Given the description of an element on the screen output the (x, y) to click on. 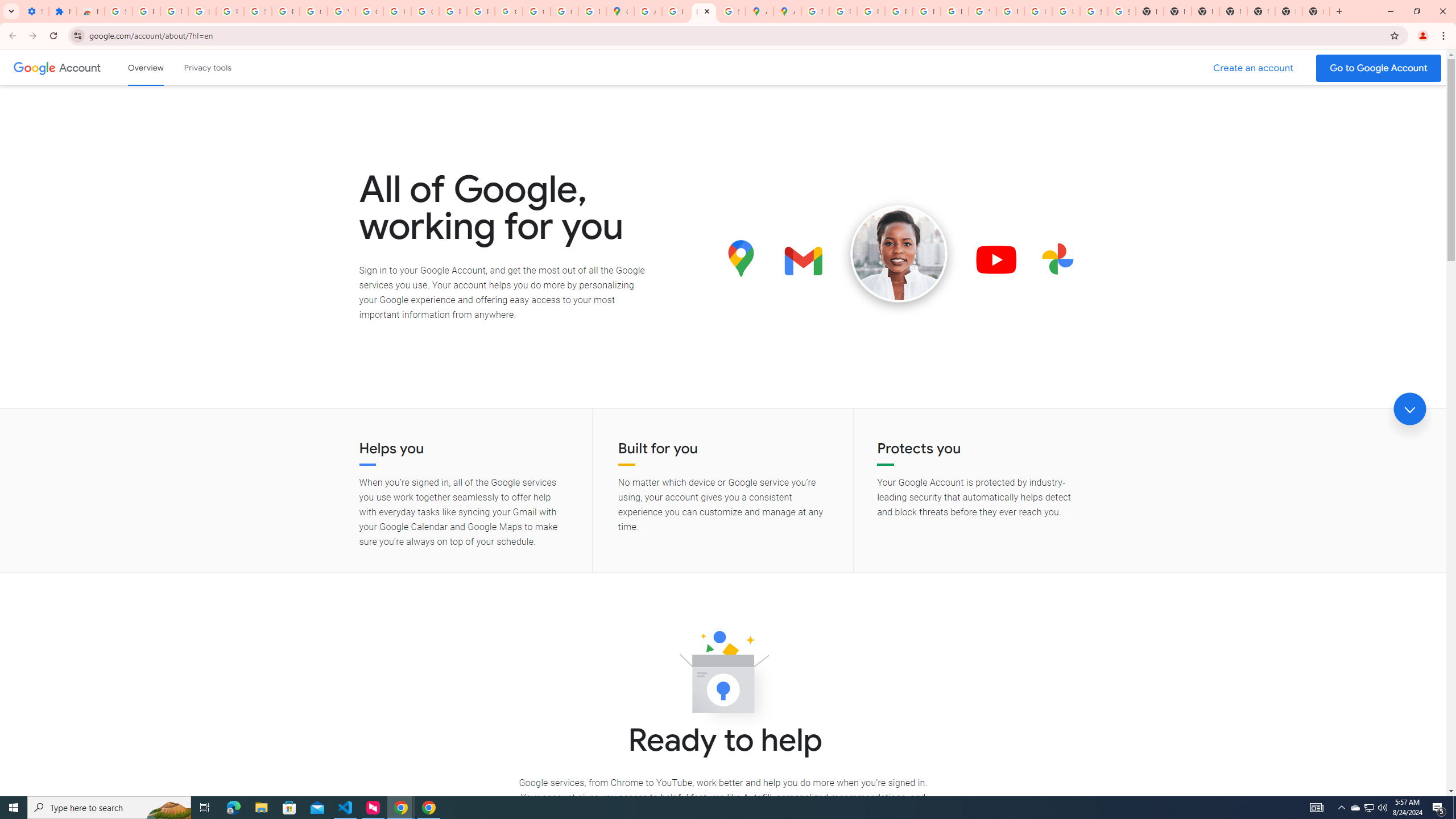
https://scholar.google.com/ (397, 11)
Privacy Help Center - Policies Help (898, 11)
Jump link (1409, 408)
New Tab (1288, 11)
YouTube (341, 11)
